Given the description of an element on the screen output the (x, y) to click on. 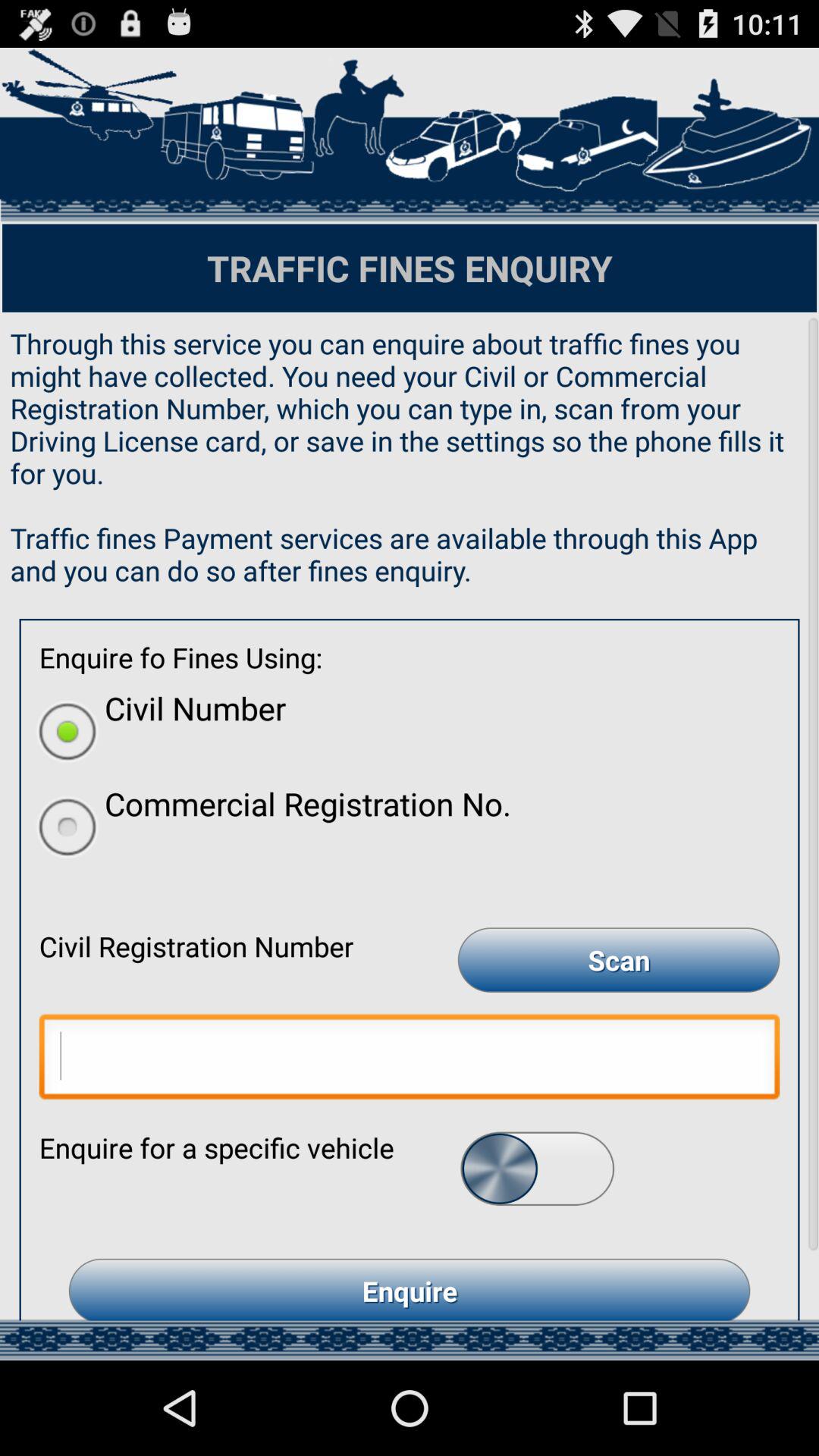
swipe button (537, 1168)
